Given the description of an element on the screen output the (x, y) to click on. 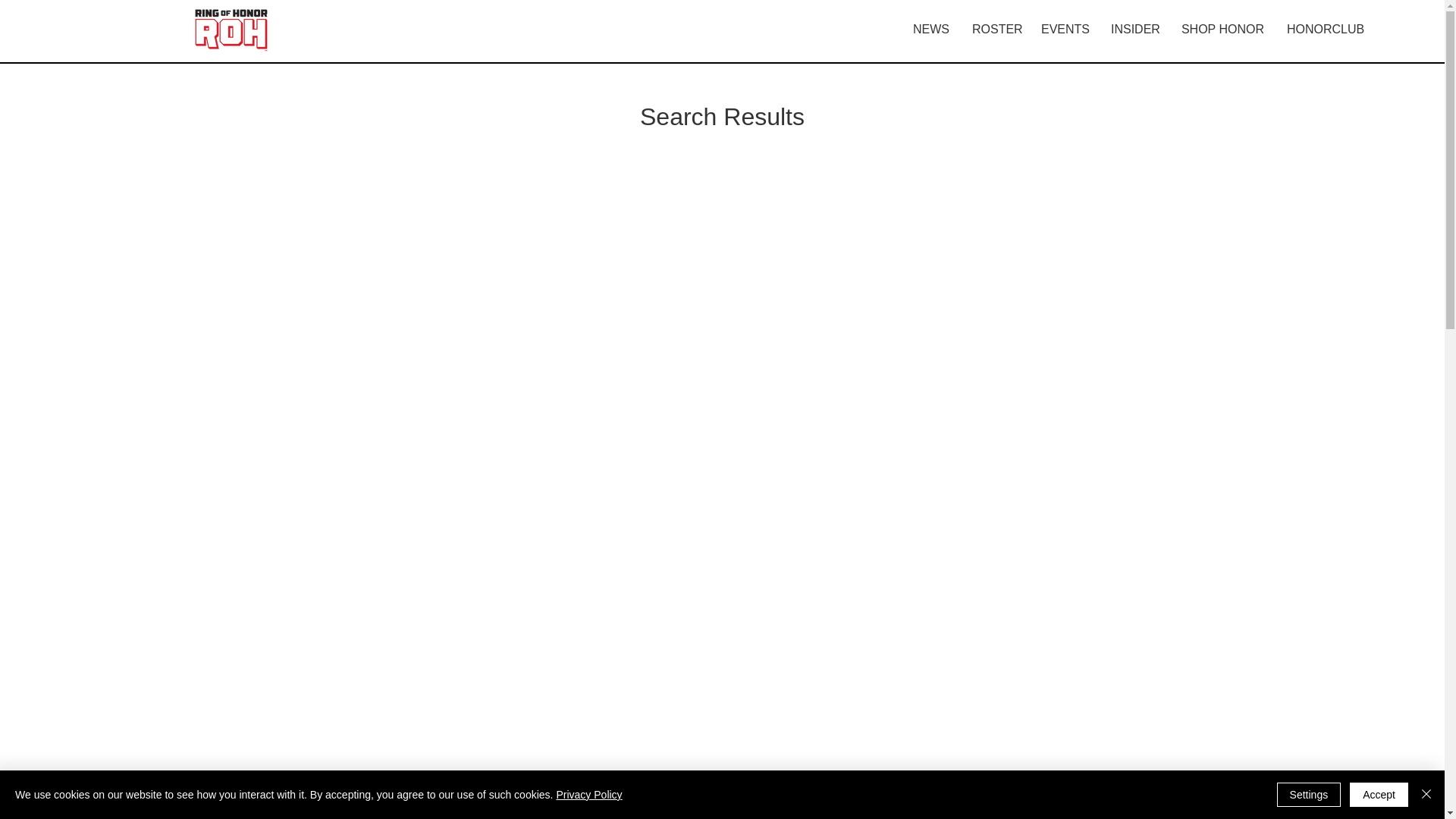
Privacy Policy (588, 794)
Settings (1308, 794)
NEWS (930, 29)
INSIDER (1134, 29)
ROSTER (994, 29)
EVENTS (1064, 29)
Accept (1378, 794)
HONORCLUB (1325, 29)
SHOP HONOR (1222, 29)
Accessibility Menu (1422, 792)
